Given the description of an element on the screen output the (x, y) to click on. 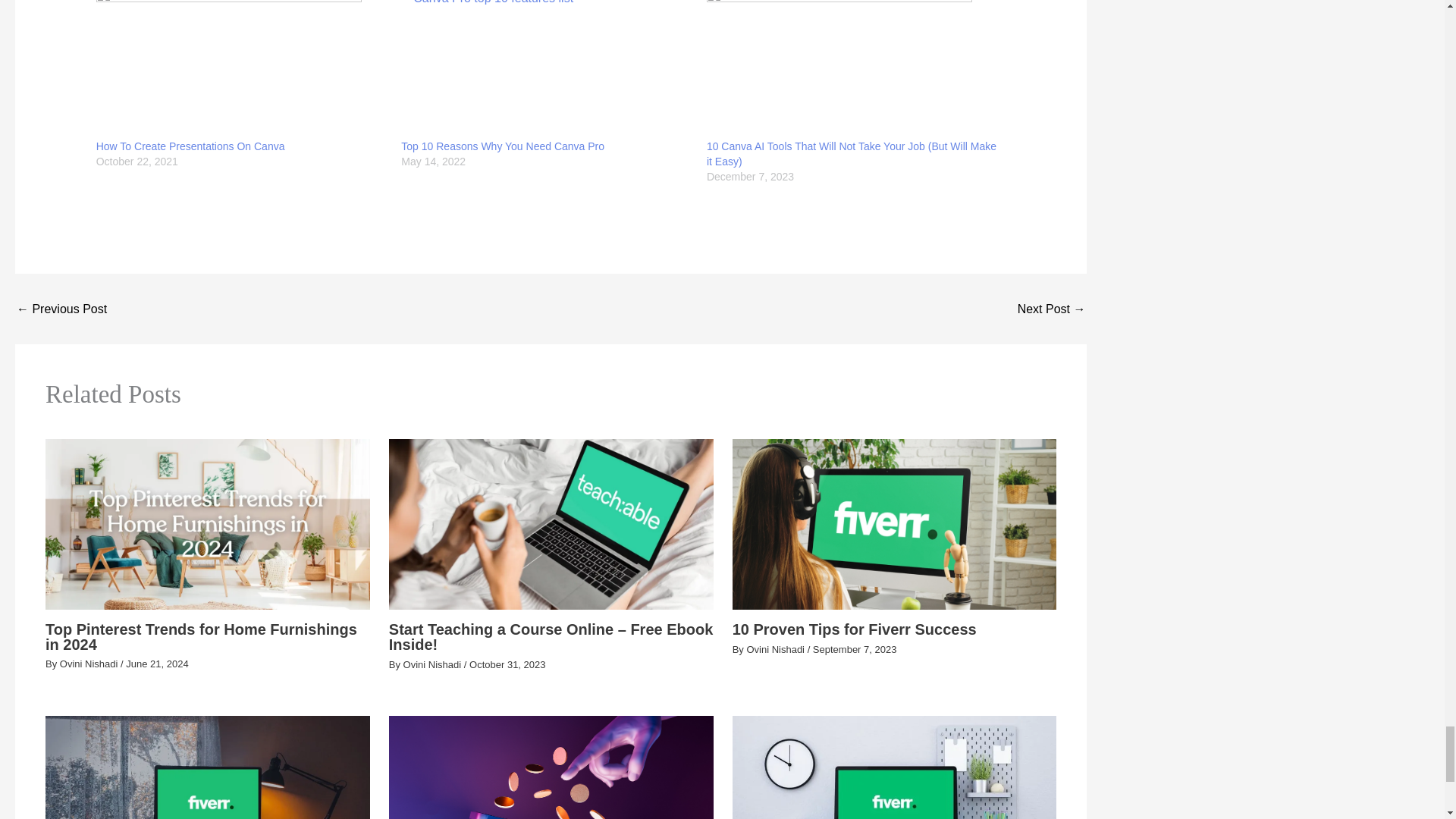
How To Create Presentations On Canva (190, 146)
Top 10 Reasons Why You Need Canva Pro (502, 146)
Top 10 Reasons Why You Need Canva Pro (546, 69)
How To Create Presentations On Canva (241, 69)
